Given the description of an element on the screen output the (x, y) to click on. 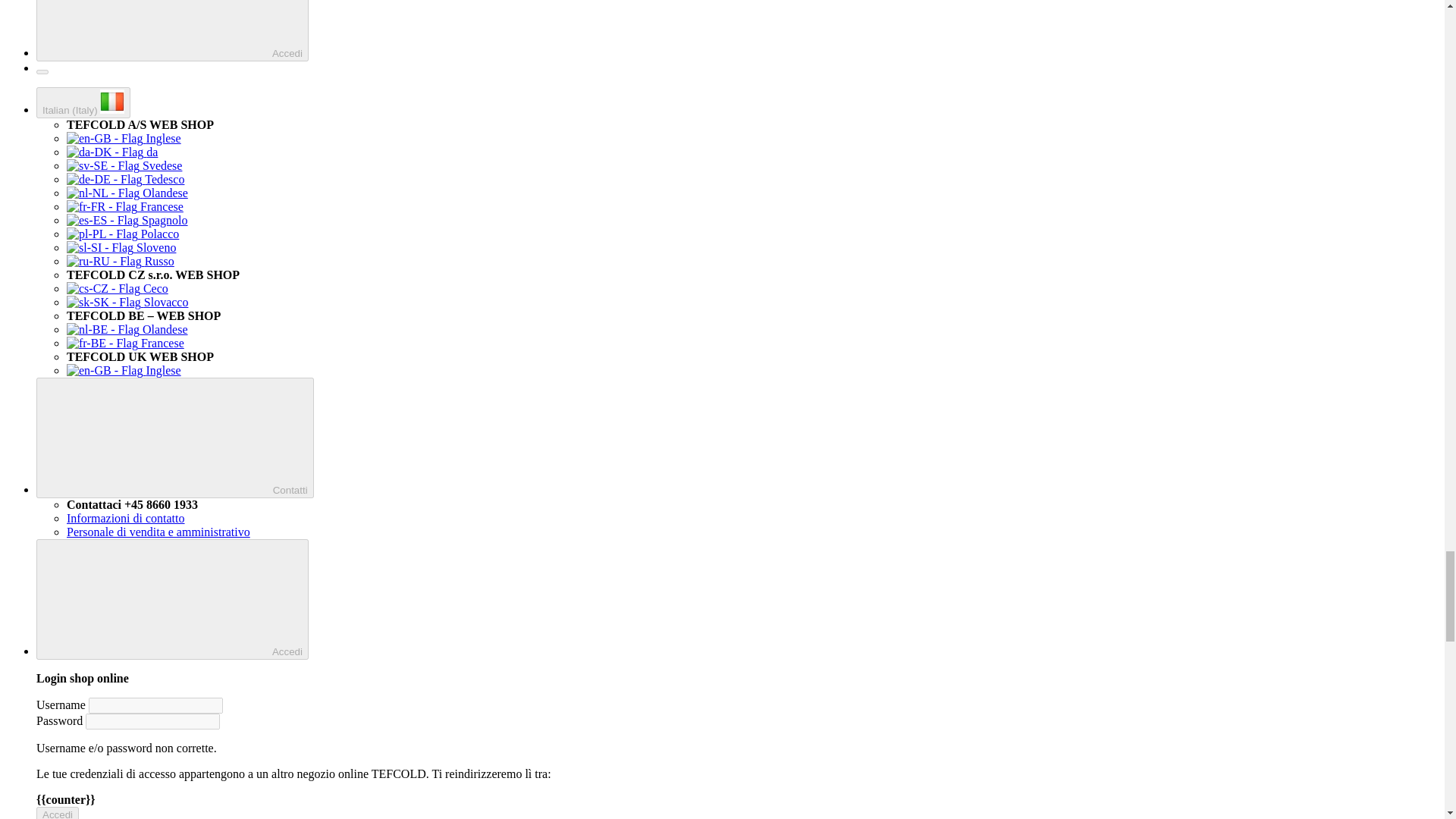
Chiudi (42, 71)
Choose Language (83, 101)
Mostra login shop online (172, 30)
Mostra i contatti (175, 437)
Mostra login shop online (172, 599)
